Given the description of an element on the screen output the (x, y) to click on. 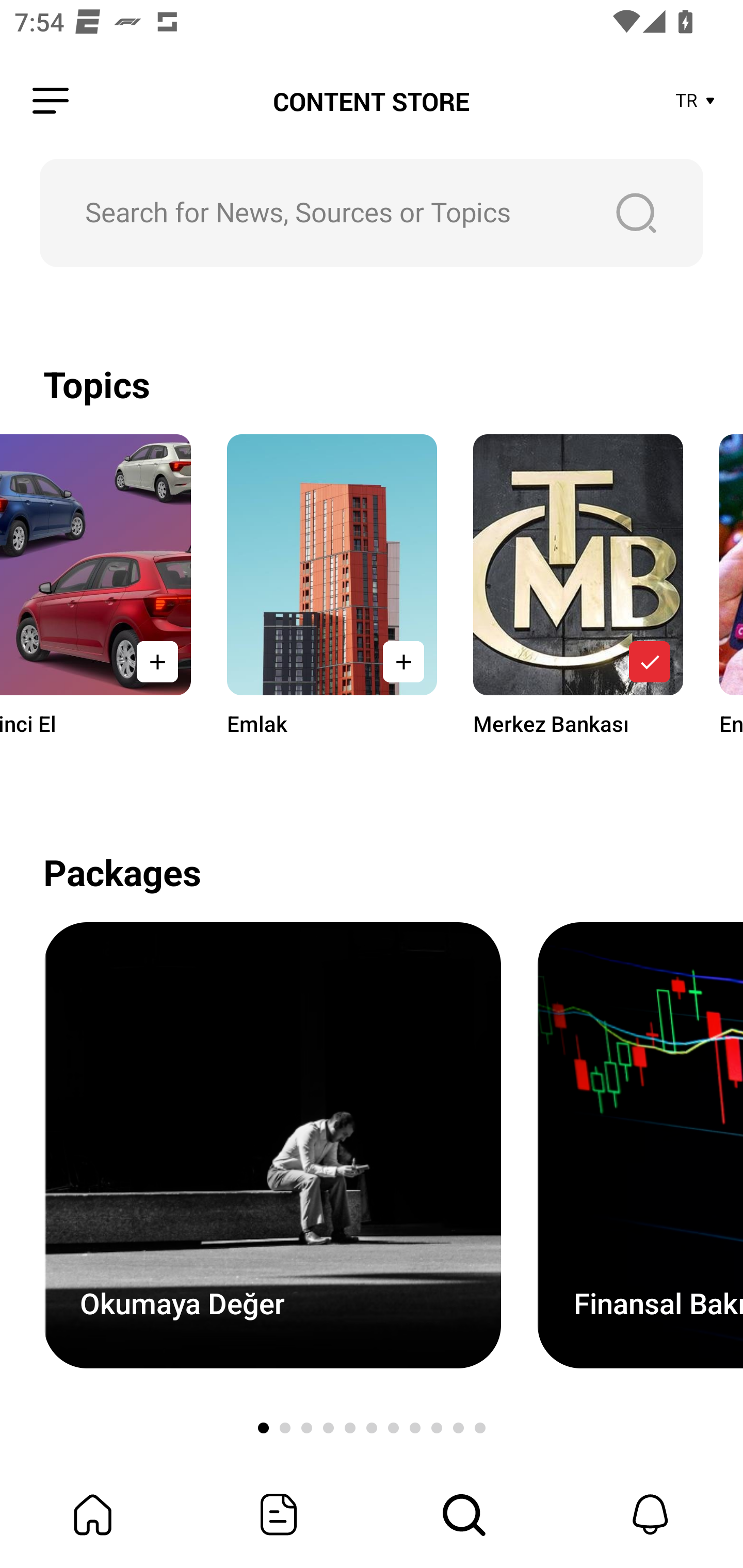
Leading Icon (50, 101)
TR Store Area (695, 101)
Search for News, Sources or Topics Search Button (371, 212)
Add To My Bundle (156, 661)
Add To My Bundle (403, 661)
Add To My Bundle (649, 661)
Content Store Discover Card Image Okumaya Değer (271, 1144)
My Bundle (92, 1514)
Featured (278, 1514)
Notifications (650, 1514)
